Given the description of an element on the screen output the (x, y) to click on. 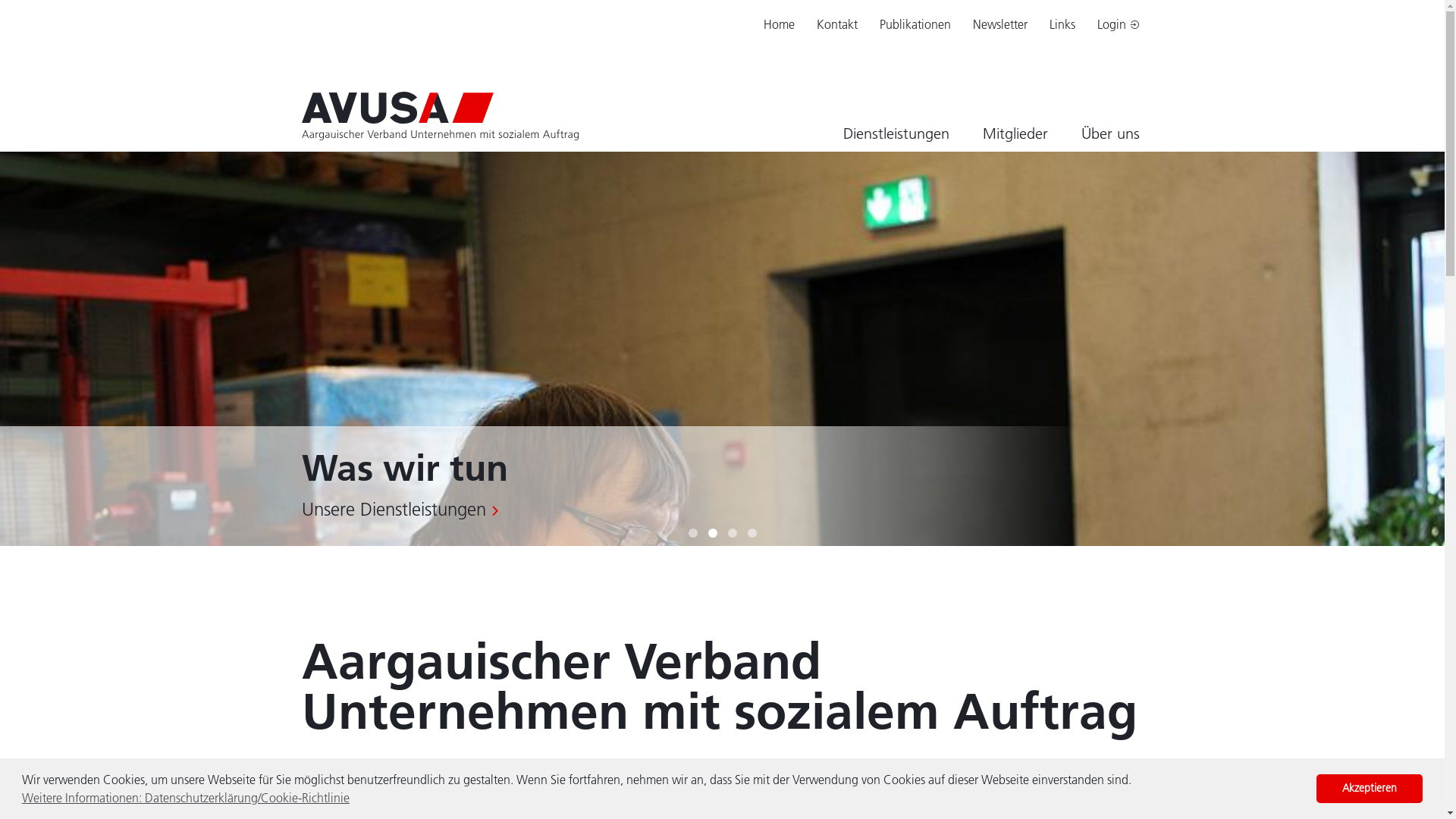
Home Element type: text (778, 24)
Login Element type: text (1118, 24)
Mitglieder Element type: text (1014, 133)
Kontakt Element type: text (836, 24)
Akzeptieren Element type: text (1369, 788)
Links Element type: text (1061, 24)
Newsletter Element type: text (1000, 24)
